Given the description of an element on the screen output the (x, y) to click on. 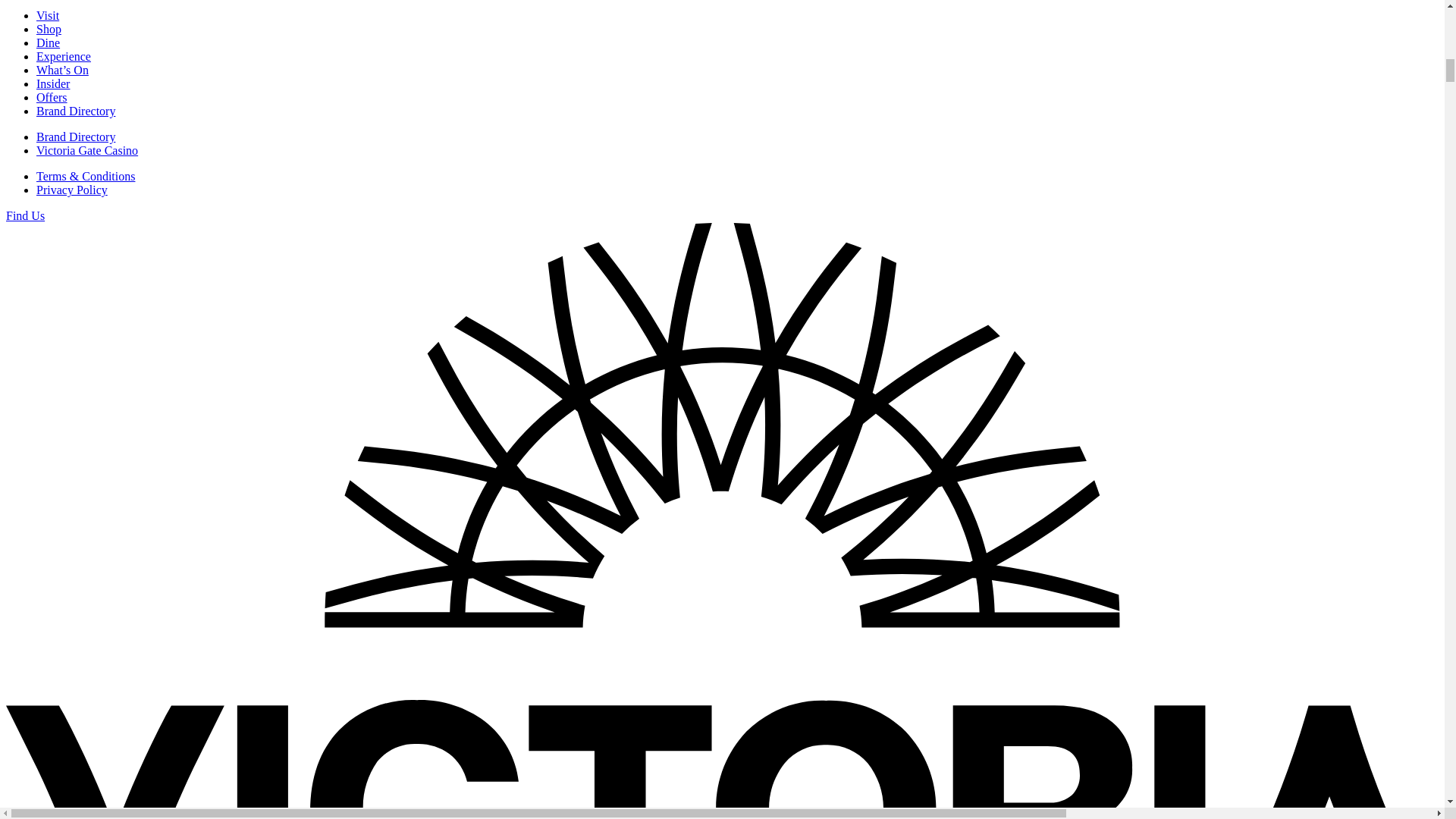
Privacy Policy (71, 189)
Visit (47, 15)
Find Us (25, 215)
Experience (63, 56)
Insider (52, 83)
Offers (51, 97)
Dine (47, 42)
Brand Directory (75, 110)
Brand Directory (75, 136)
Victoria Gate Casino (87, 150)
